Given the description of an element on the screen output the (x, y) to click on. 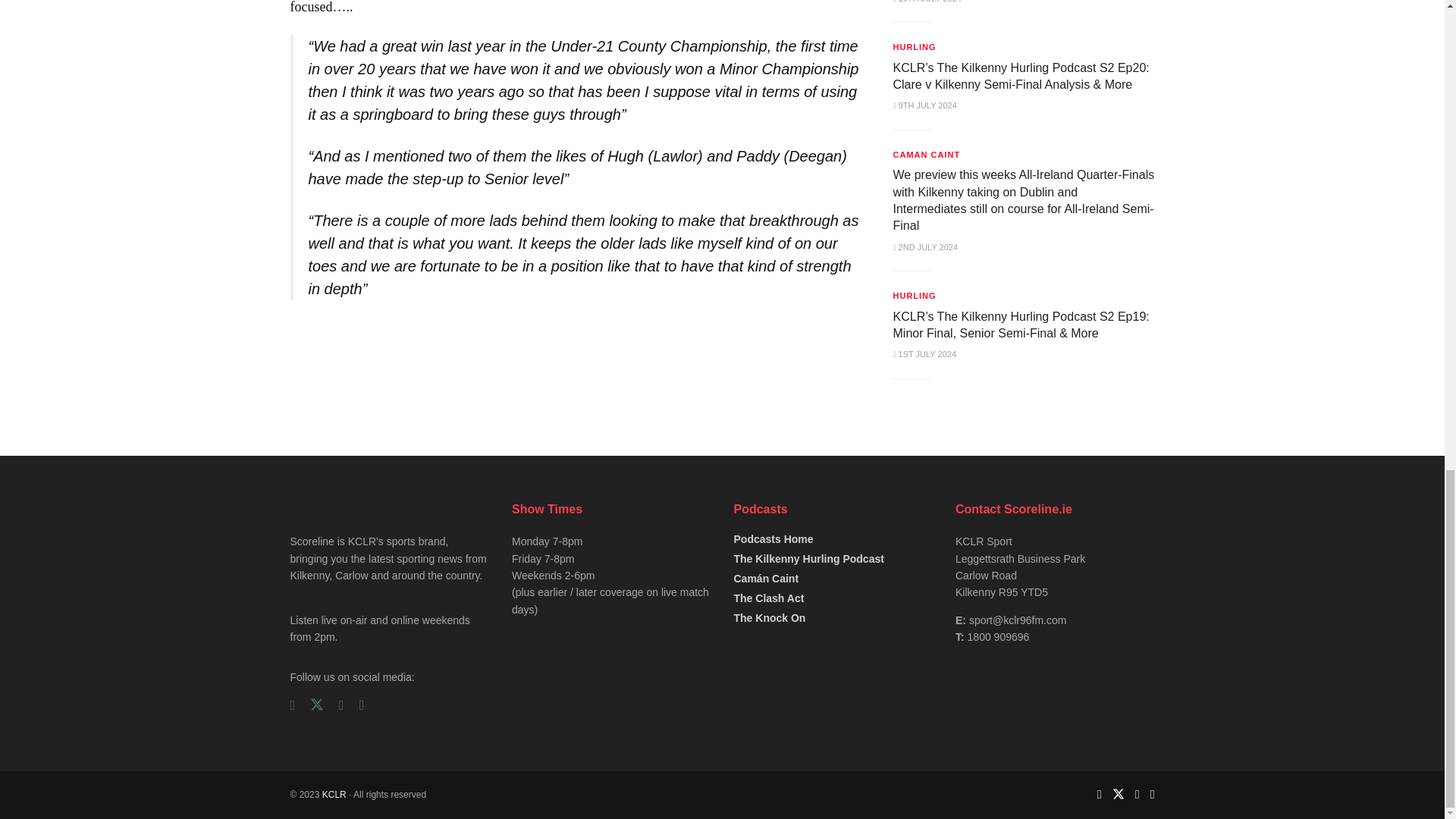
HURLING (914, 46)
9TH JULY 2024 (924, 104)
10TH JULY 2024 (926, 1)
